Given the description of an element on the screen output the (x, y) to click on. 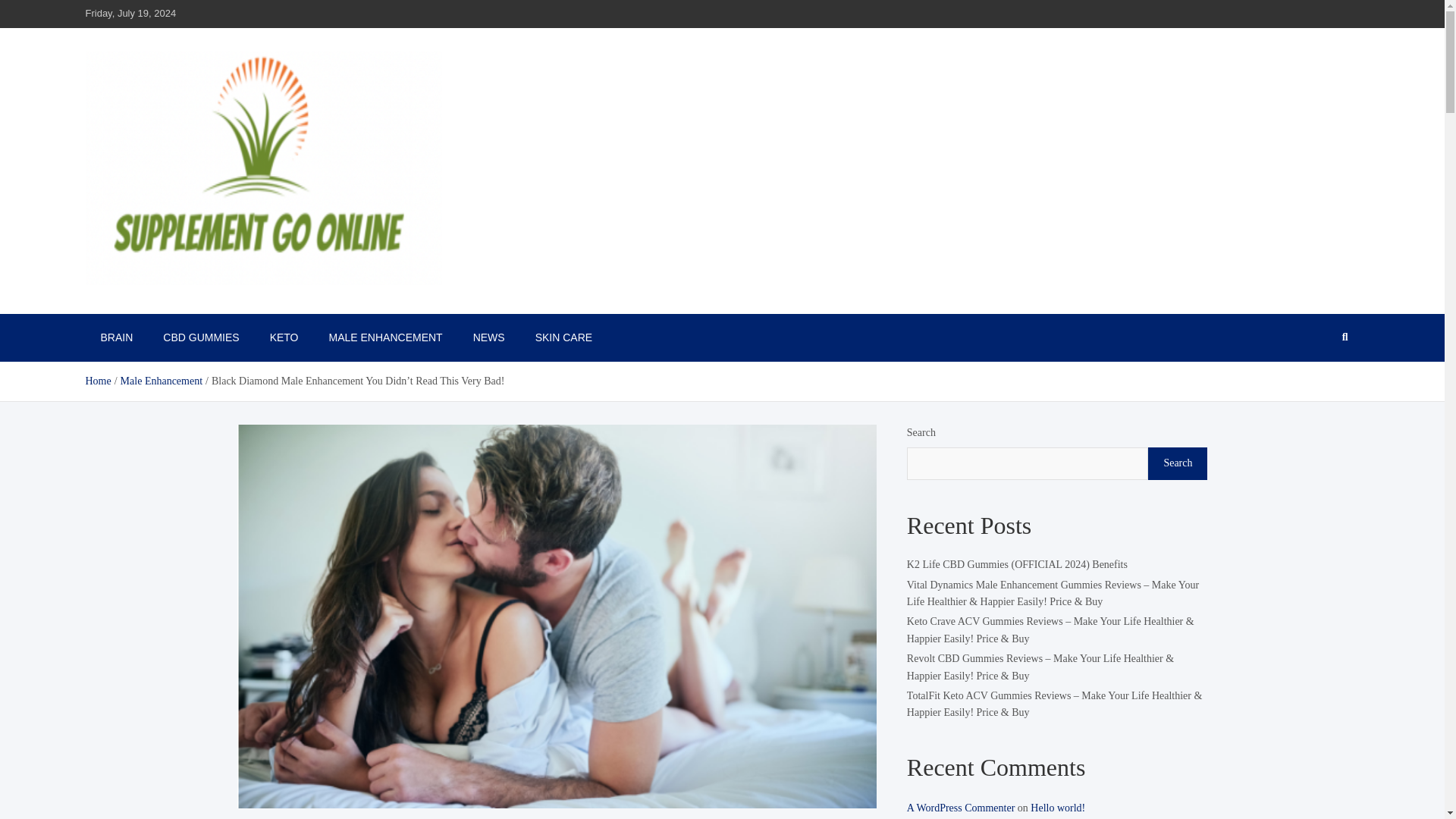
NEWS (488, 337)
MALE ENHANCEMENT (386, 337)
CBD GUMMIES (200, 337)
Supplement Go Online (202, 306)
BRAIN (116, 337)
Home (97, 380)
SKIN CARE (563, 337)
KETO (284, 337)
Male Enhancement (161, 380)
